Given the description of an element on the screen output the (x, y) to click on. 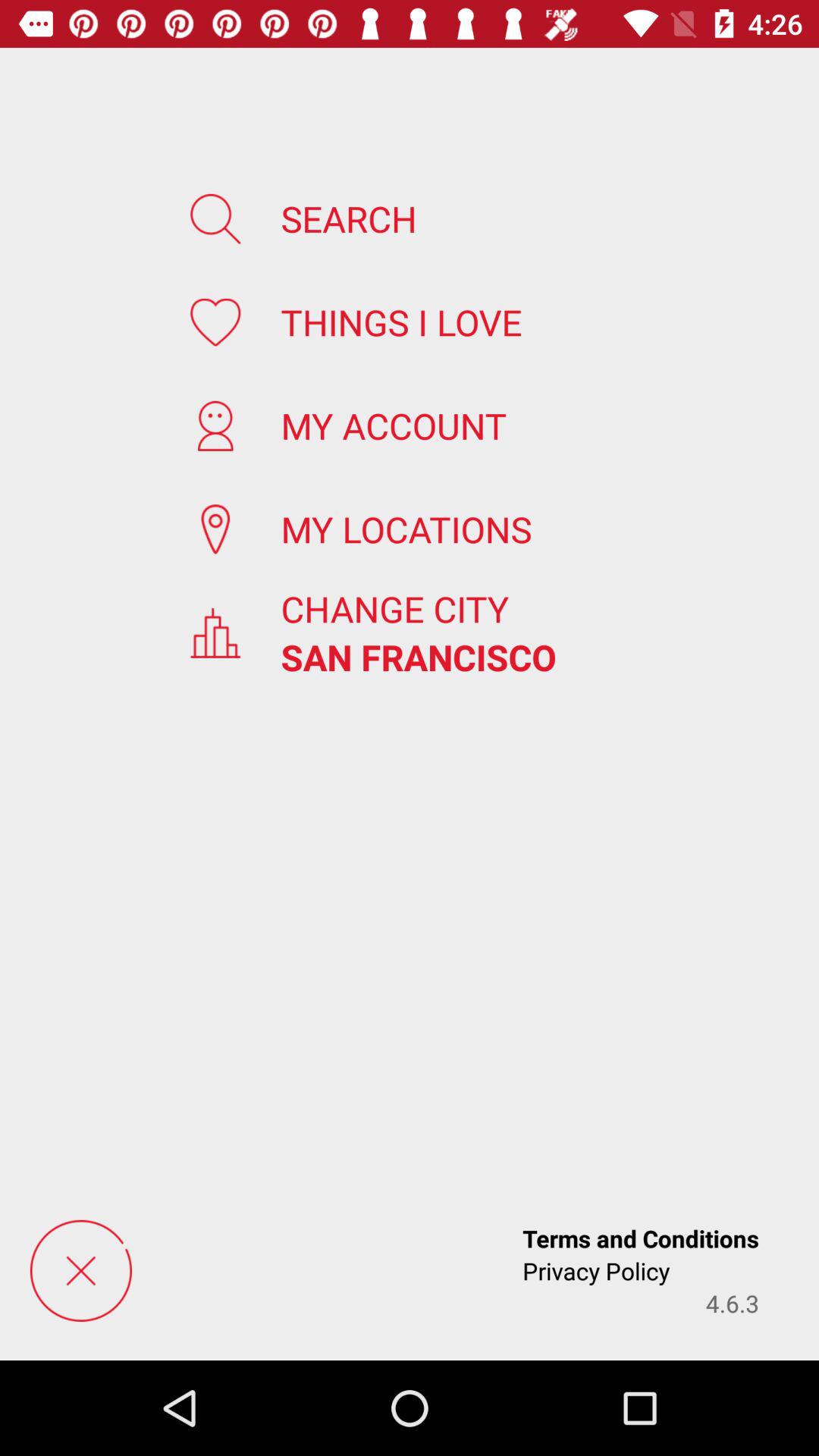
select search (348, 218)
